Given the description of an element on the screen output the (x, y) to click on. 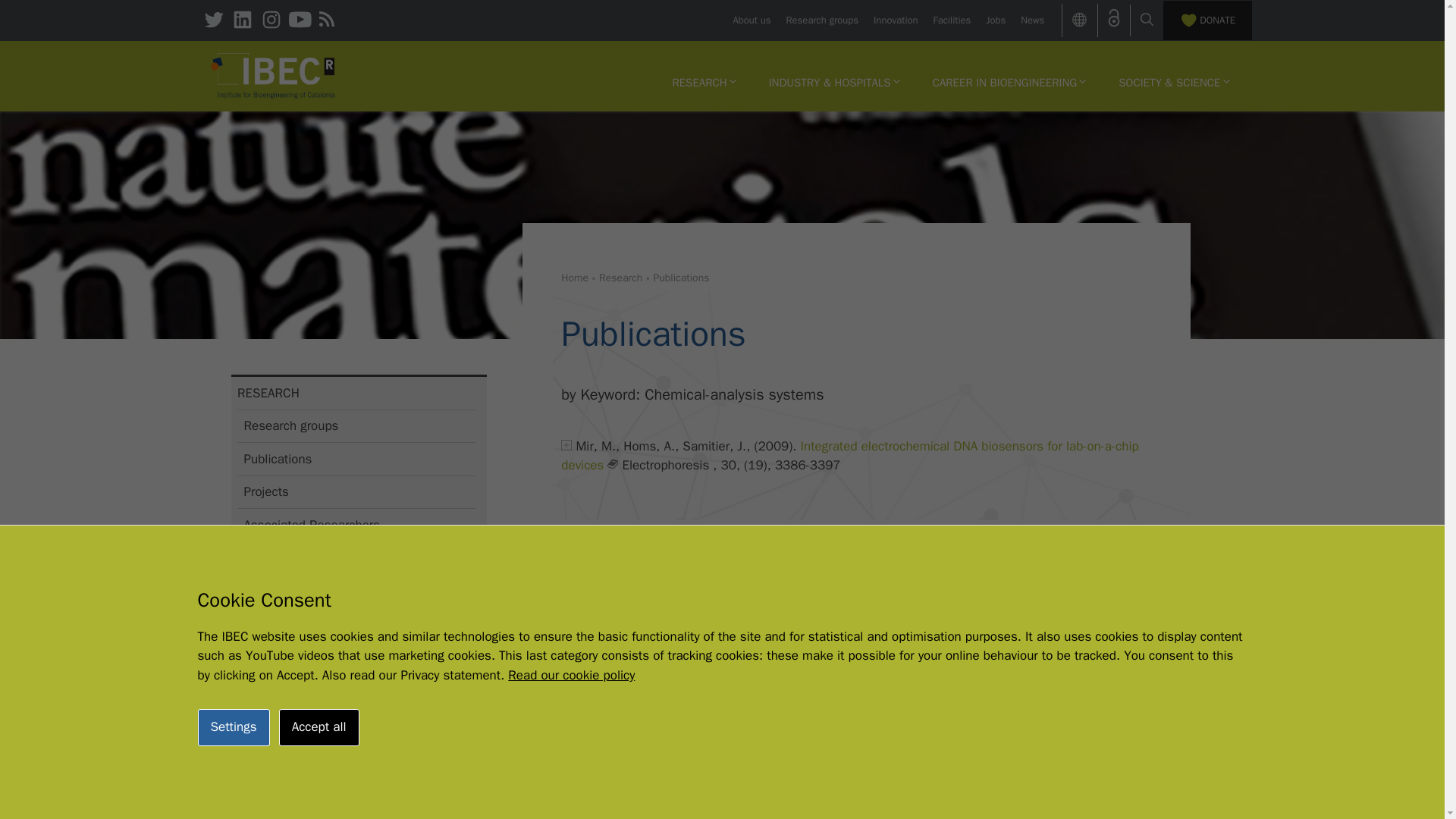
Innovation (895, 19)
Institute for Bioengineering of Catalonia (272, 75)
Jobs (995, 19)
RESEARCH (704, 81)
DONATE (1207, 20)
Institute for Bioengineering of Catalonia (272, 74)
About us (751, 19)
Facilities (952, 19)
Research groups (822, 19)
News (1031, 19)
